Given the description of an element on the screen output the (x, y) to click on. 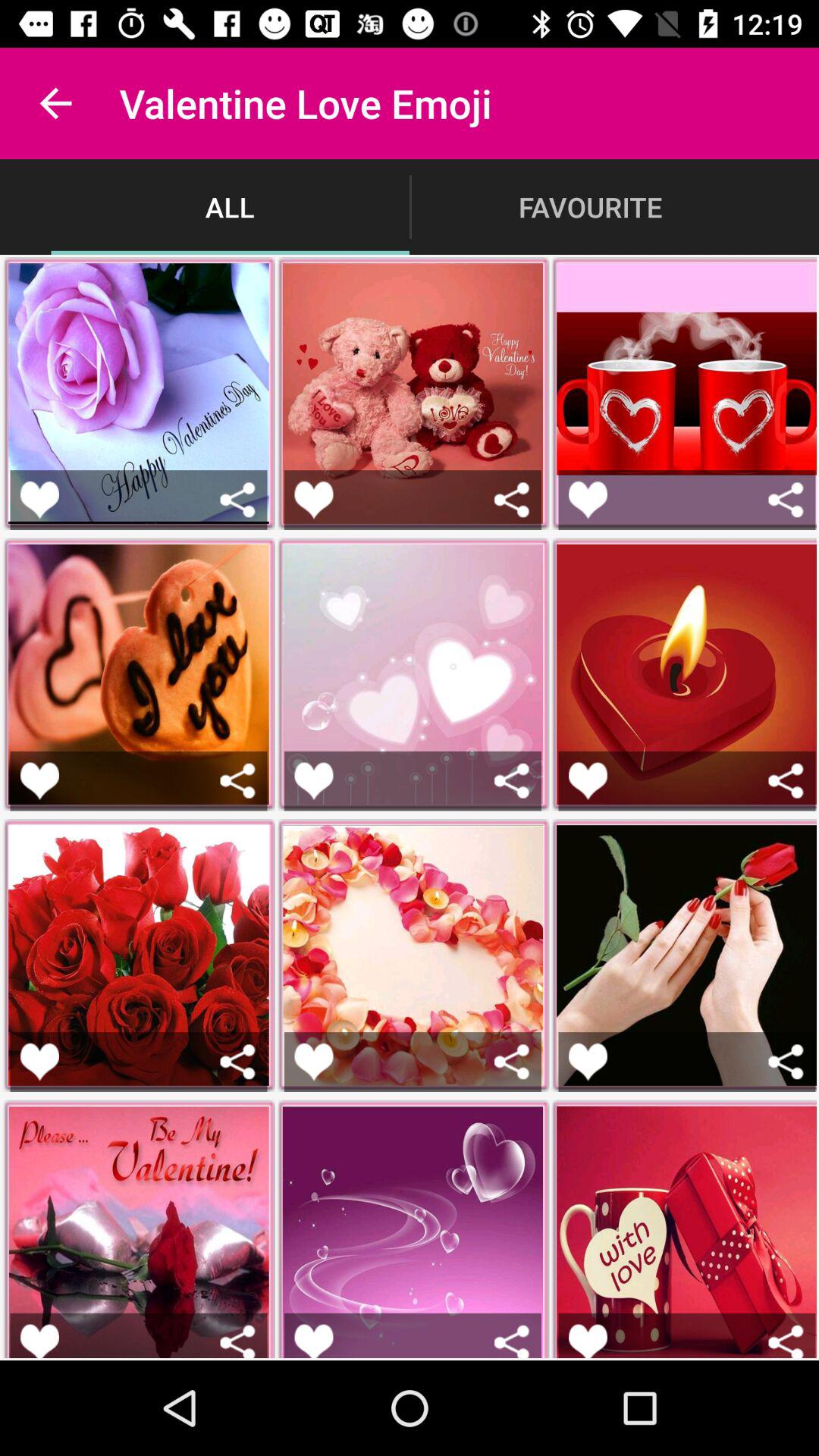
share (511, 1061)
